Given the description of an element on the screen output the (x, y) to click on. 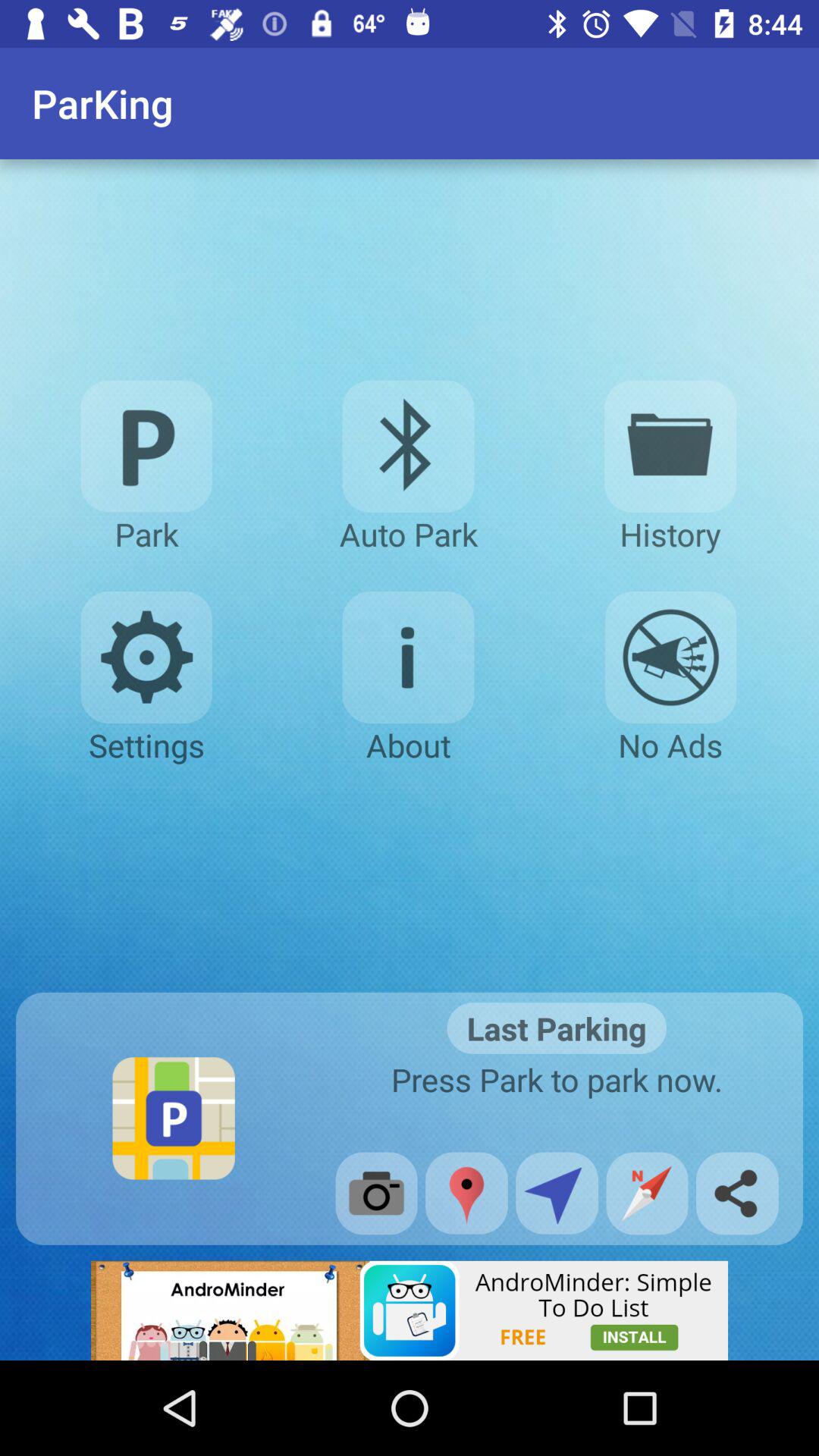
select settings (146, 657)
